Given the description of an element on the screen output the (x, y) to click on. 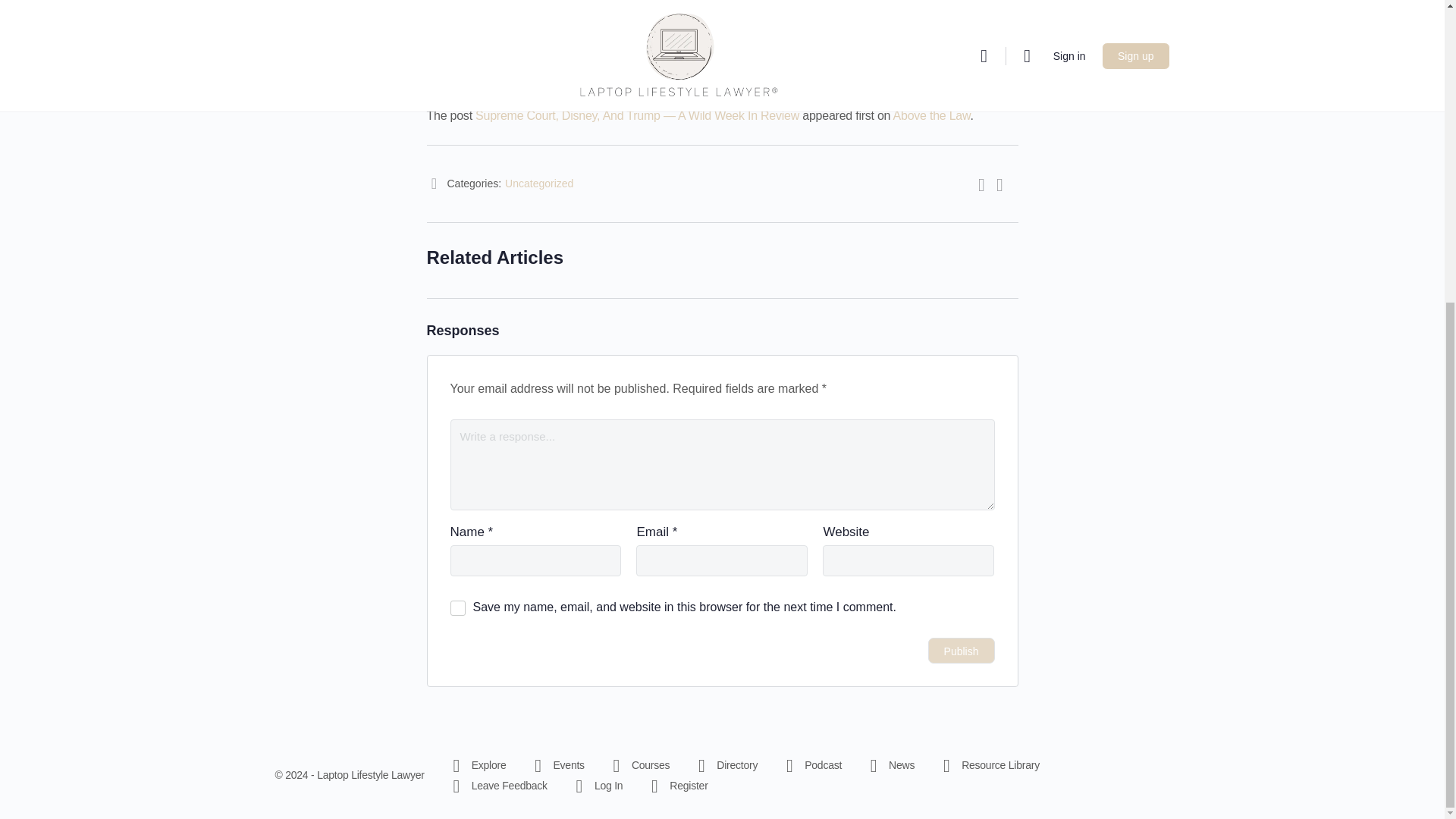
Above the Law (932, 115)
Publish (961, 650)
Uncategorized (539, 183)
